Given the description of an element on the screen output the (x, y) to click on. 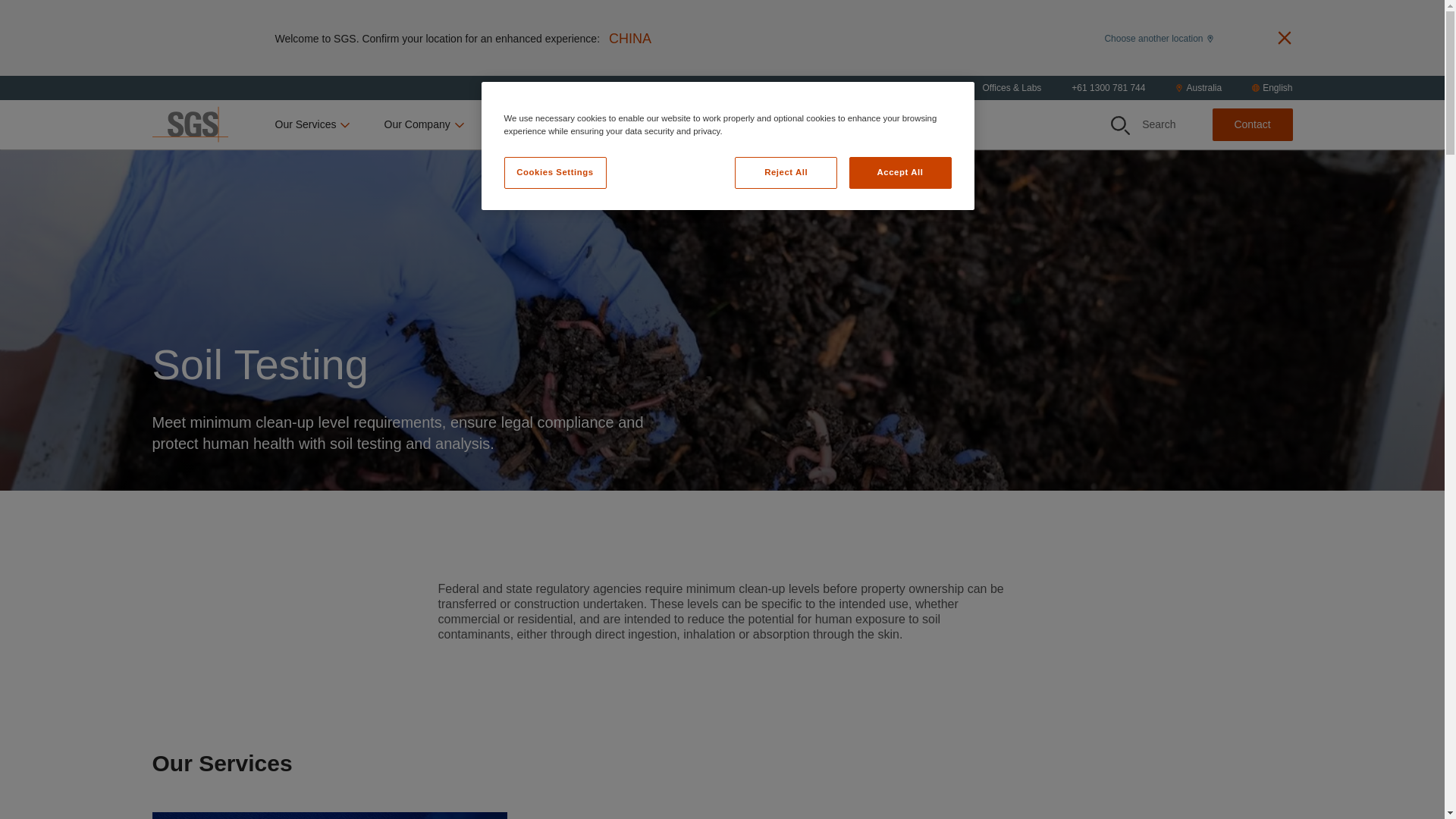
Leadoo chatbot launcher (1412, 748)
Search (1119, 125)
Investors (637, 124)
Choose another location (1157, 37)
Australia (1197, 87)
SGS (189, 124)
Our Services (313, 124)
Media (713, 124)
CHINA (629, 38)
Our Company (424, 124)
Asbestos in Soil (328, 815)
Search (1143, 124)
Sustainability (536, 124)
Contact (1251, 124)
